Given the description of an element on the screen output the (x, y) to click on. 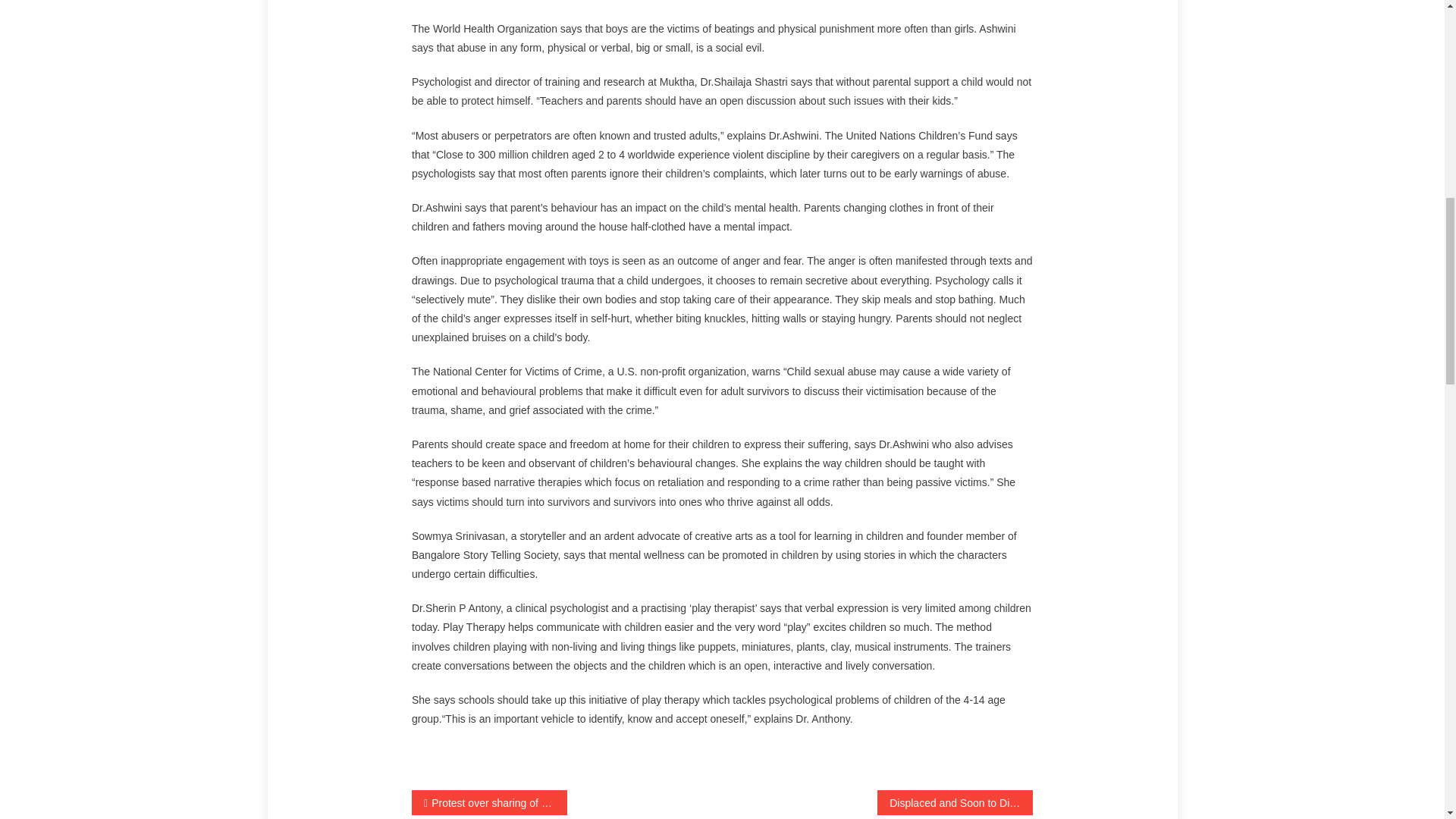
Displaced and Soon to Disappear (954, 802)
